Given the description of an element on the screen output the (x, y) to click on. 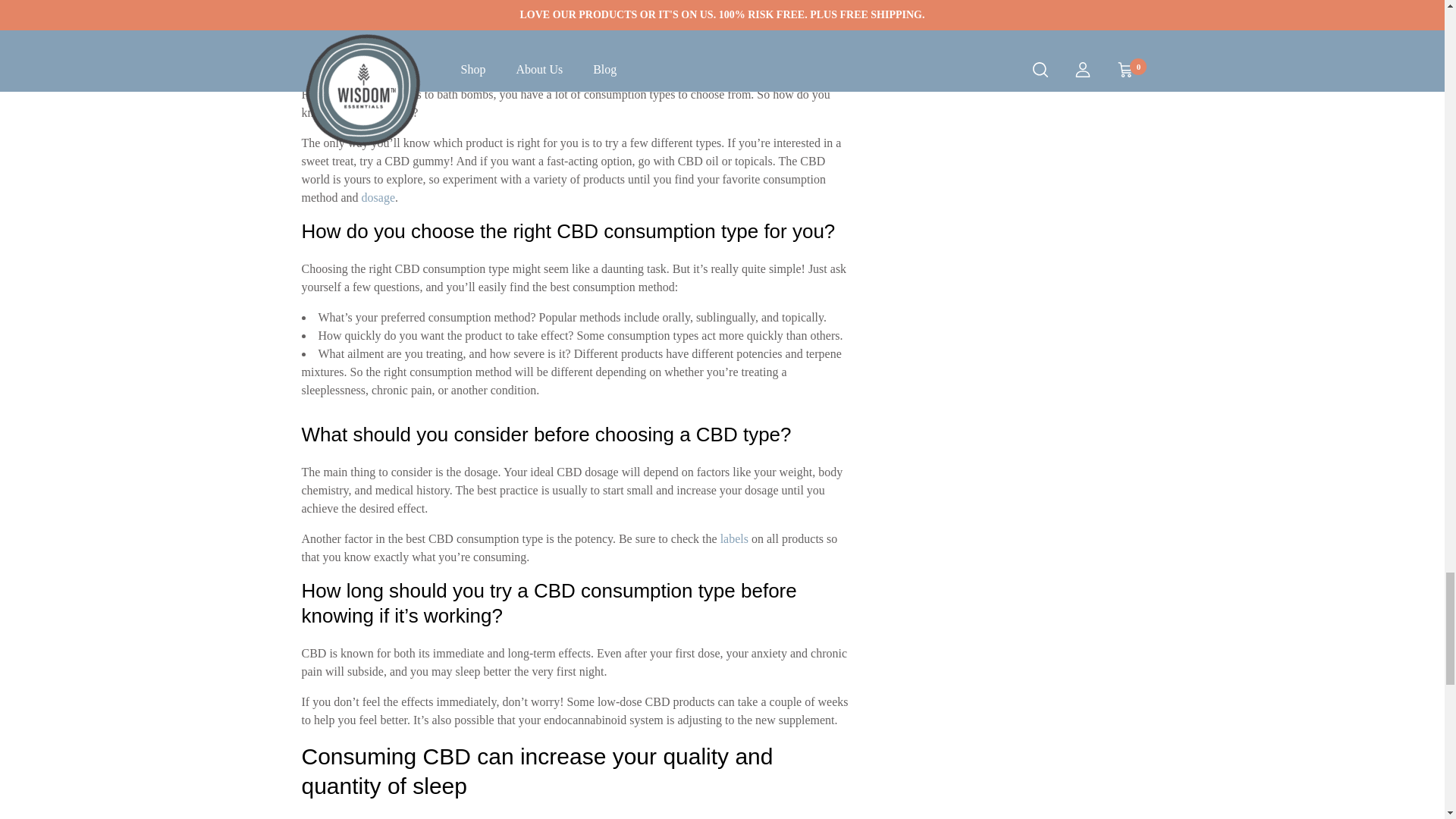
dosage (377, 196)
labels (734, 538)
